Given the description of an element on the screen output the (x, y) to click on. 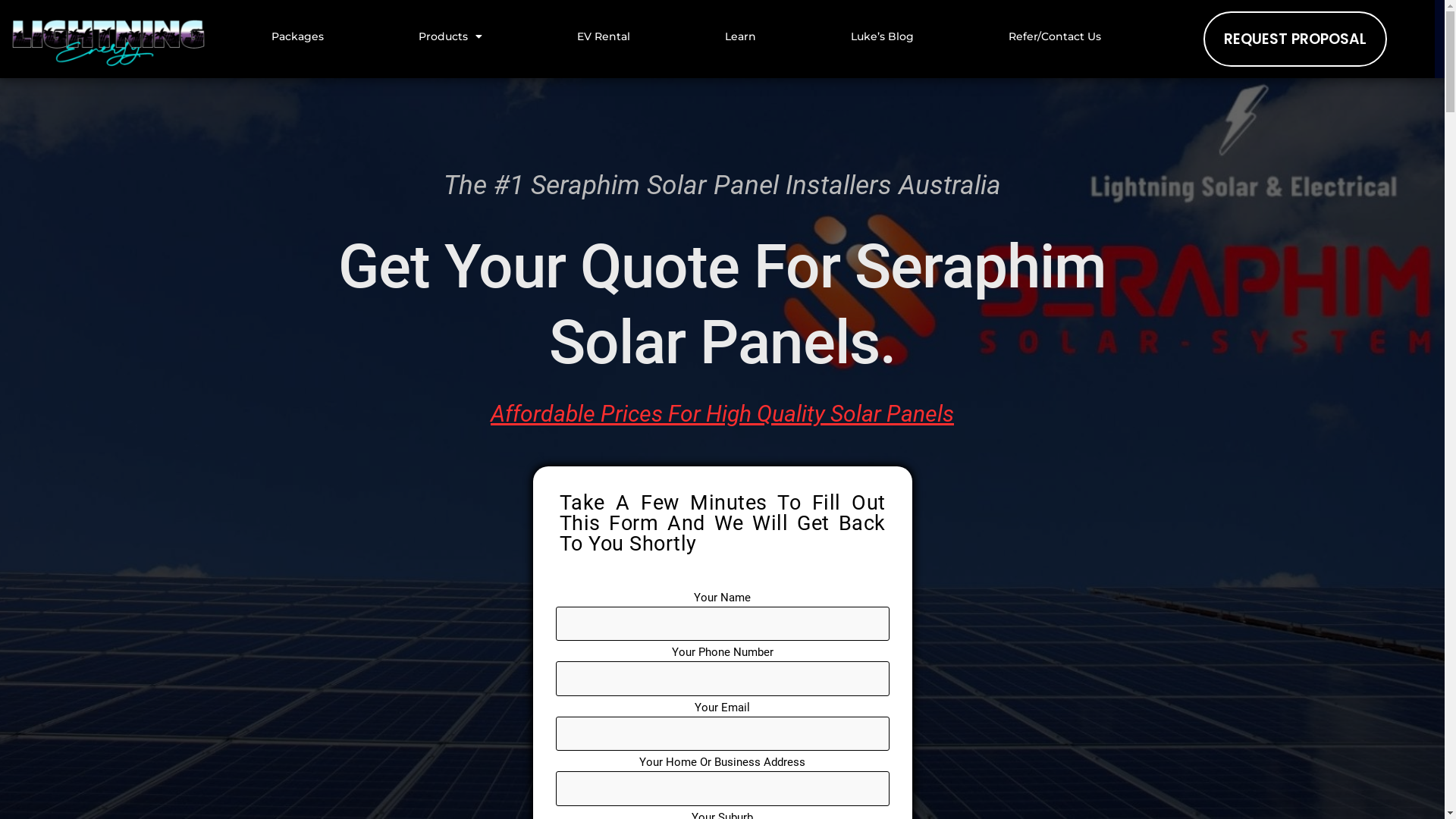
EV Rental Element type: text (603, 36)
Products Element type: text (450, 36)
Packages Element type: text (297, 36)
REQUEST PROPOSAL Element type: text (1294, 38)
Refer/Contact Us Element type: text (1054, 36)
Learn Element type: text (740, 36)
